Given the description of an element on the screen output the (x, y) to click on. 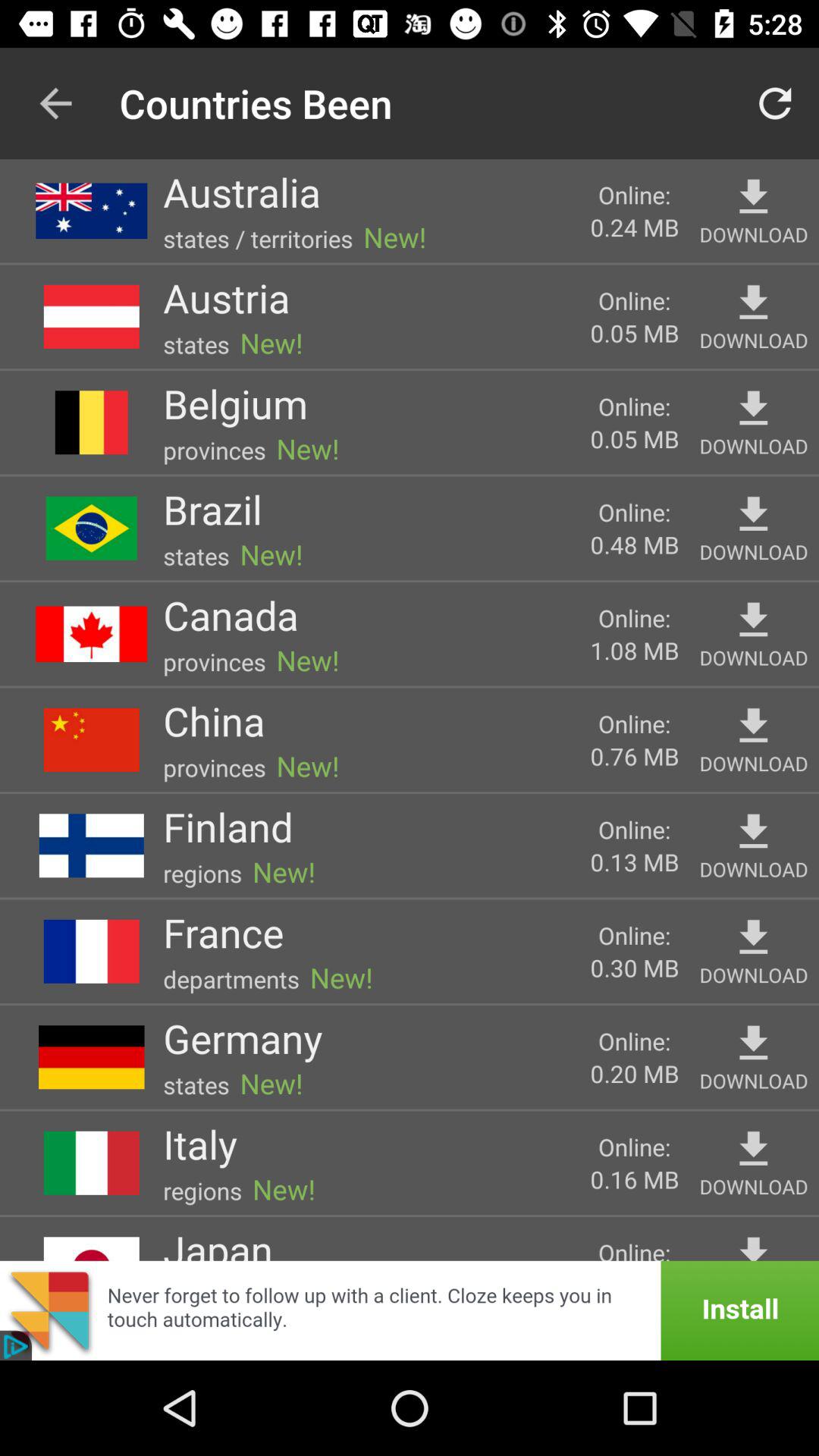
turn off the item to the left of the countries been icon (55, 103)
